Given the description of an element on the screen output the (x, y) to click on. 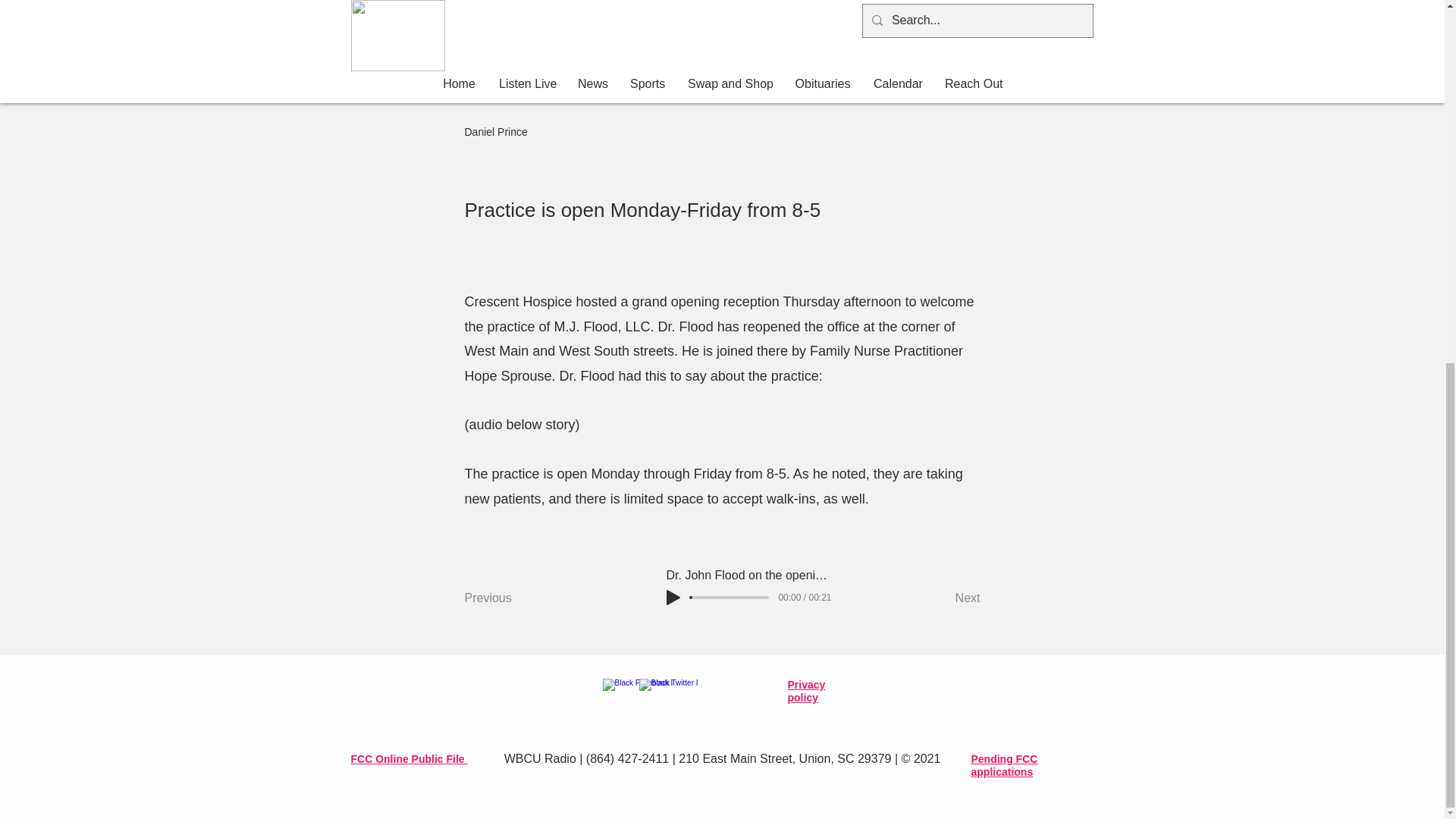
FCC Online Public File  (408, 758)
Privacy policy (806, 691)
Next (941, 598)
0 (729, 597)
Previous (514, 598)
Pending FCC applications (1003, 765)
